Given the description of an element on the screen output the (x, y) to click on. 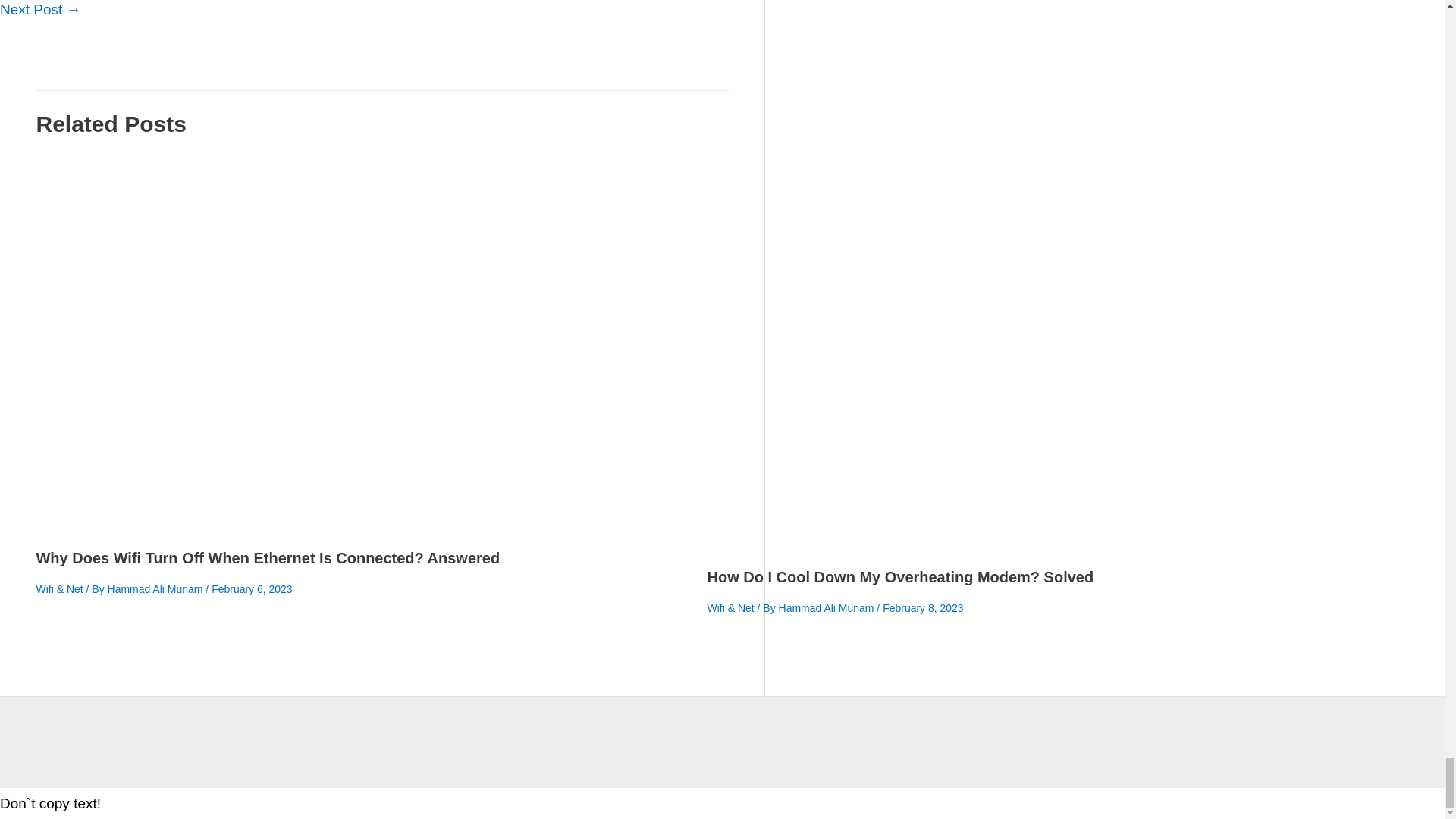
View all posts by Hammad Ali Munam (827, 607)
View all posts by Hammad Ali Munam (156, 589)
How To Safely Remove Temp Folder? - 4 Methods (40, 9)
